Given the description of an element on the screen output the (x, y) to click on. 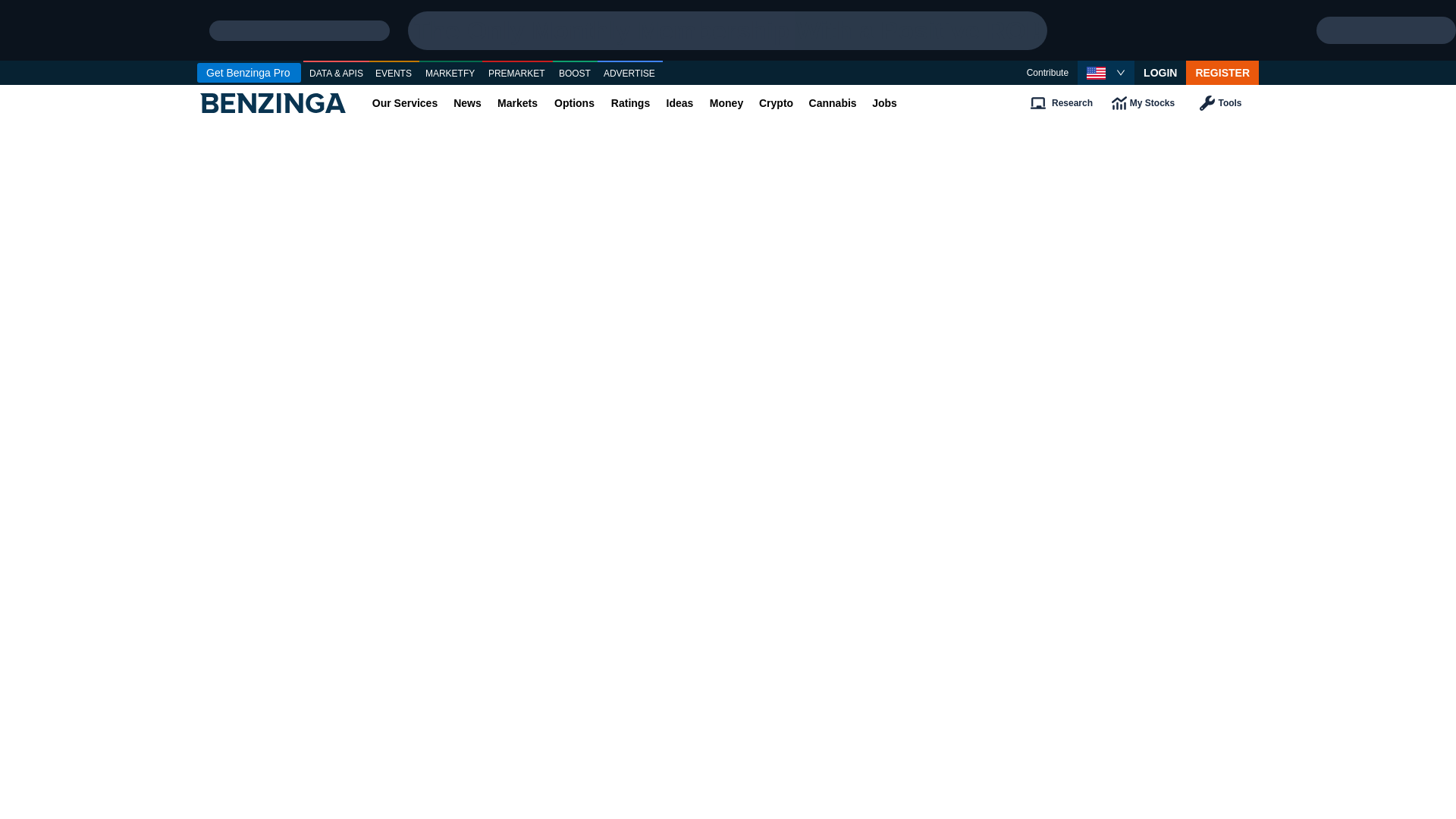
Get Benzinga Pro (248, 72)
EVENTS (394, 73)
ADVERTISE (629, 73)
PREMARKET (517, 73)
USA (1095, 72)
LOGIN (1160, 72)
BOOST (574, 73)
REGISTER (1222, 72)
MARKETFY (450, 73)
Contribute (1047, 72)
